Given the description of an element on the screen output the (x, y) to click on. 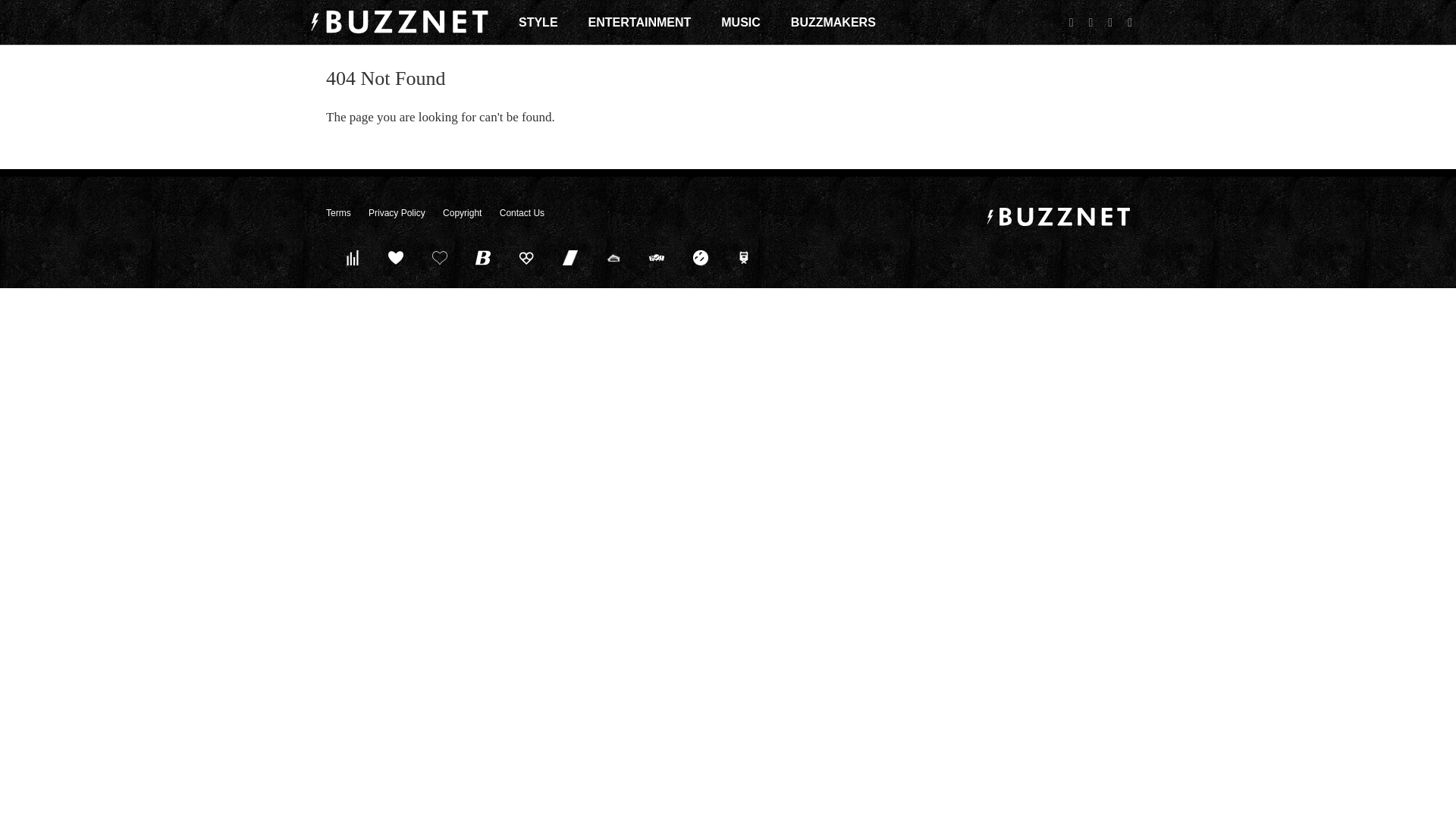
Quizscape (656, 257)
STYLE (538, 22)
Post Fun (439, 257)
MUSIC (740, 22)
Trend Chaser (570, 257)
Pure Volume (351, 257)
Hooch (526, 257)
Copyright (461, 213)
Daily Funny (699, 257)
Privacy Policy (396, 213)
